Given the description of an element on the screen output the (x, y) to click on. 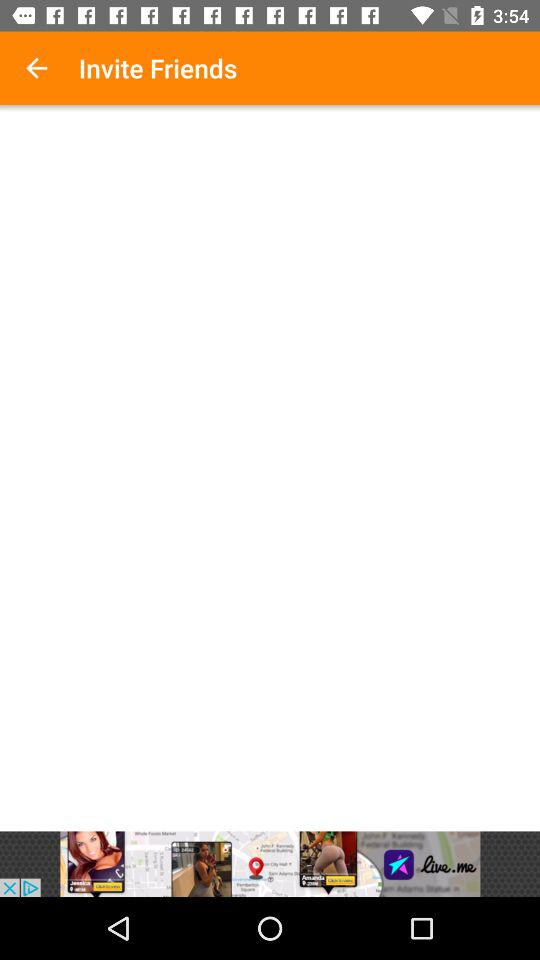
advertisement option (270, 864)
